Given the description of an element on the screen output the (x, y) to click on. 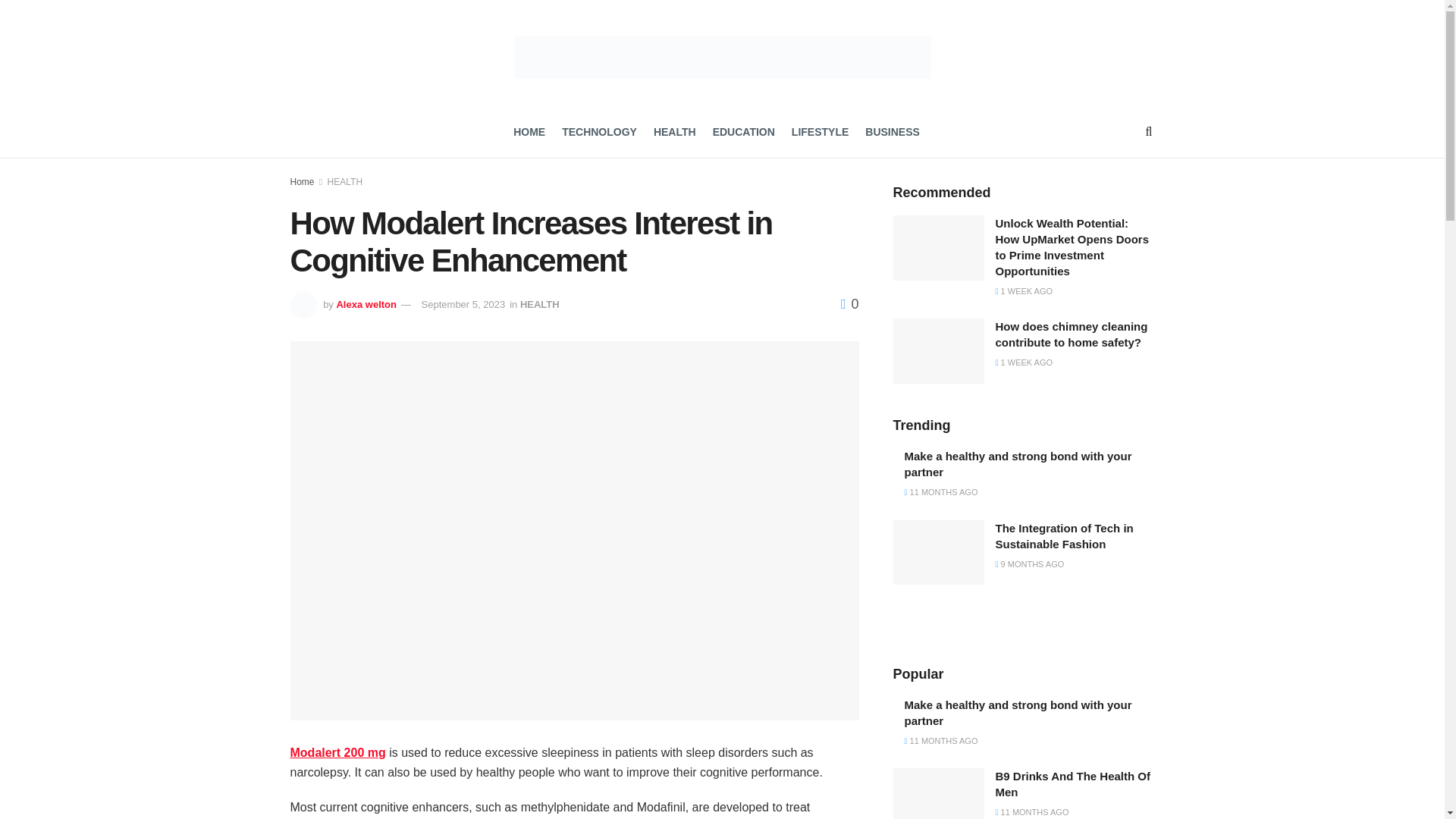
Home (301, 181)
BUSINESS (892, 132)
LIFESTYLE (820, 132)
September 5, 2023 (463, 304)
TECHNOLOGY (599, 132)
EDUCATION (743, 132)
HEALTH (539, 304)
Modalert 200 mg (337, 752)
Alexa welton (366, 304)
0 (850, 304)
HEALTH (344, 181)
